Given the description of an element on the screen output the (x, y) to click on. 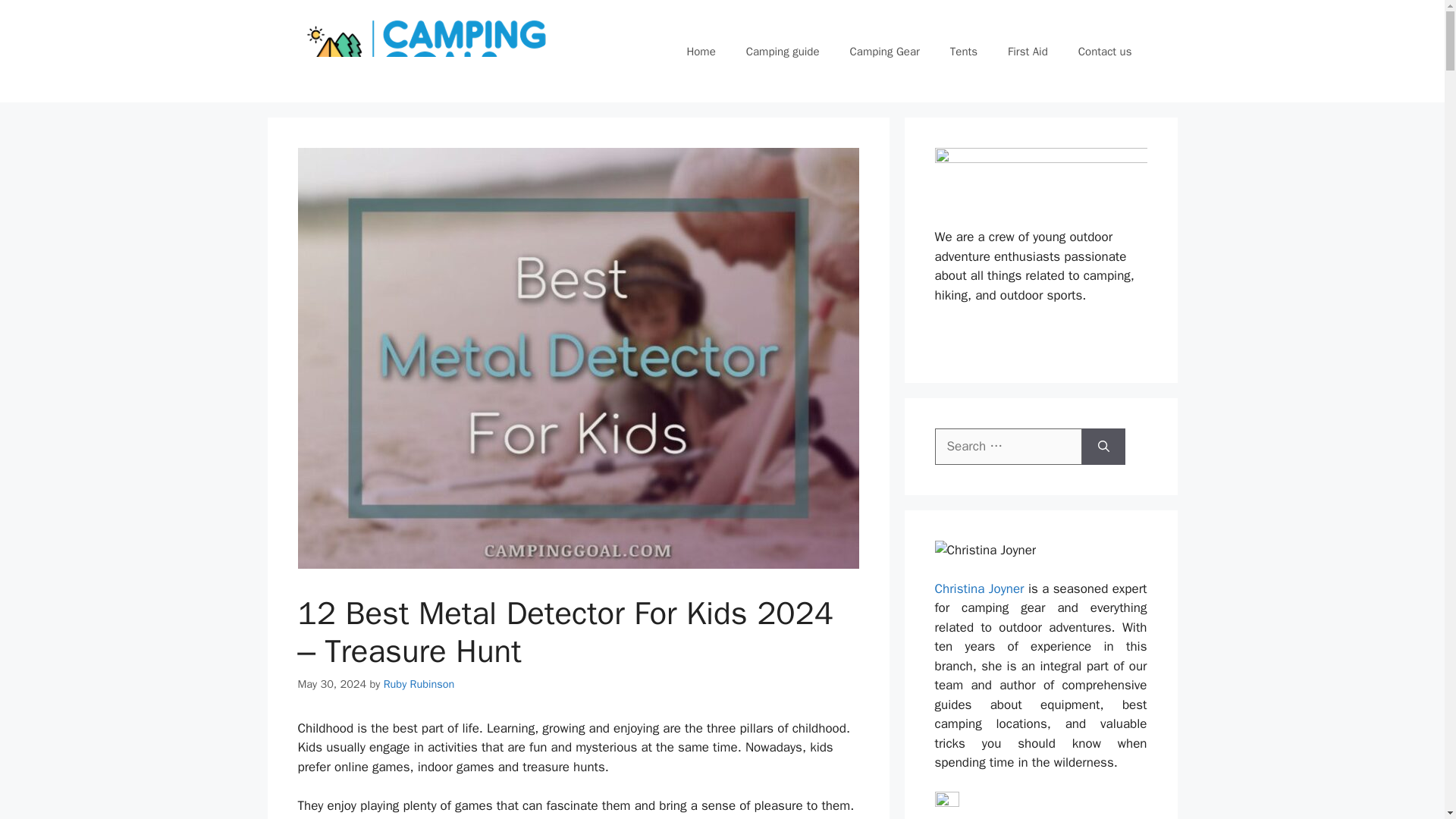
Search for: (1007, 446)
View all posts by Ruby Rubinson (419, 684)
Tents (963, 51)
Ruby Rubinson (419, 684)
Home (700, 51)
Contact us (1104, 51)
Camping Gear (884, 51)
Christina Joyner (978, 588)
Camping guide (782, 51)
First Aid (1027, 51)
